Given the description of an element on the screen output the (x, y) to click on. 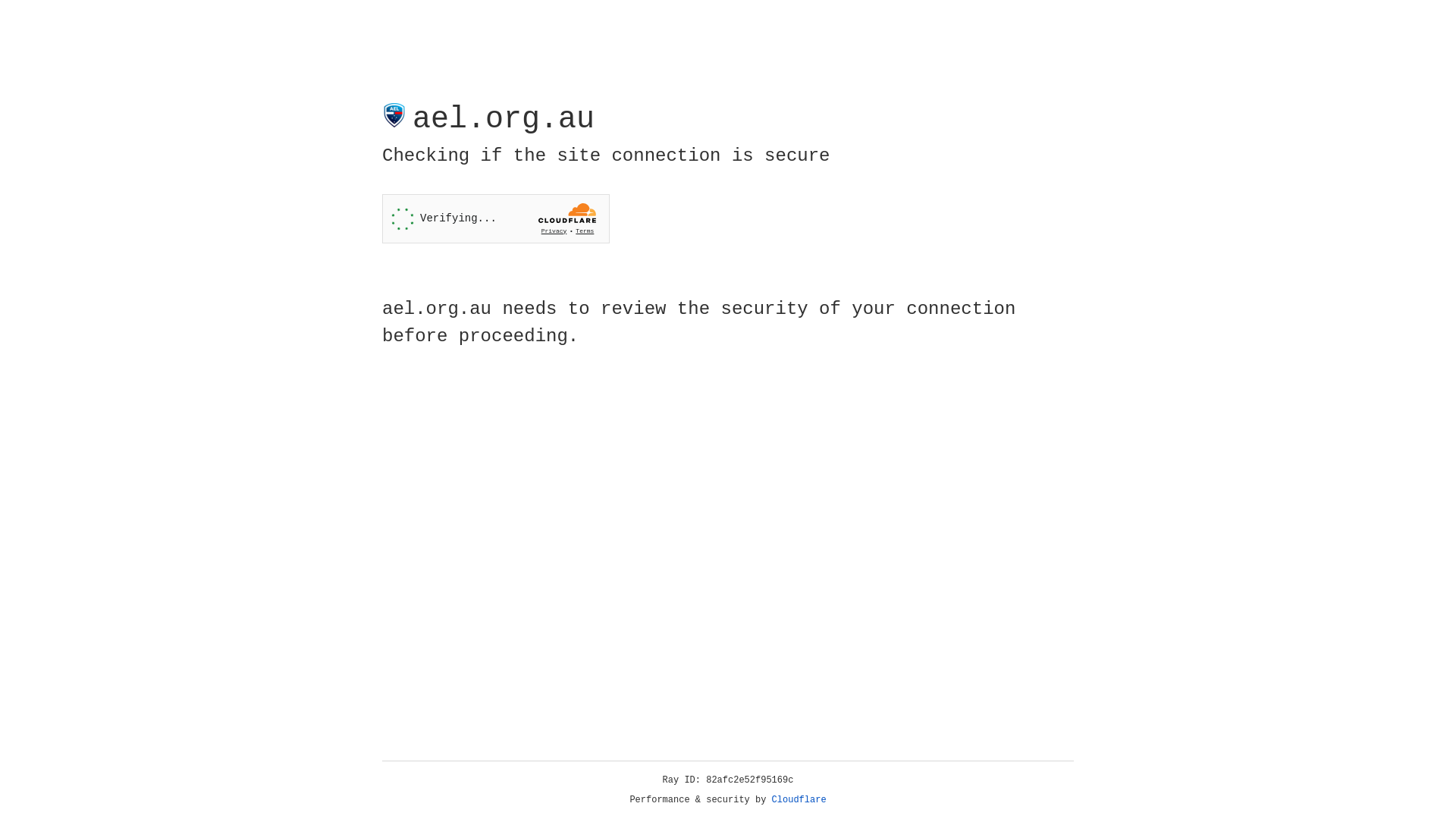
Cloudflare Element type: text (798, 799)
Widget containing a Cloudflare security challenge Element type: hover (495, 218)
